Given the description of an element on the screen output the (x, y) to click on. 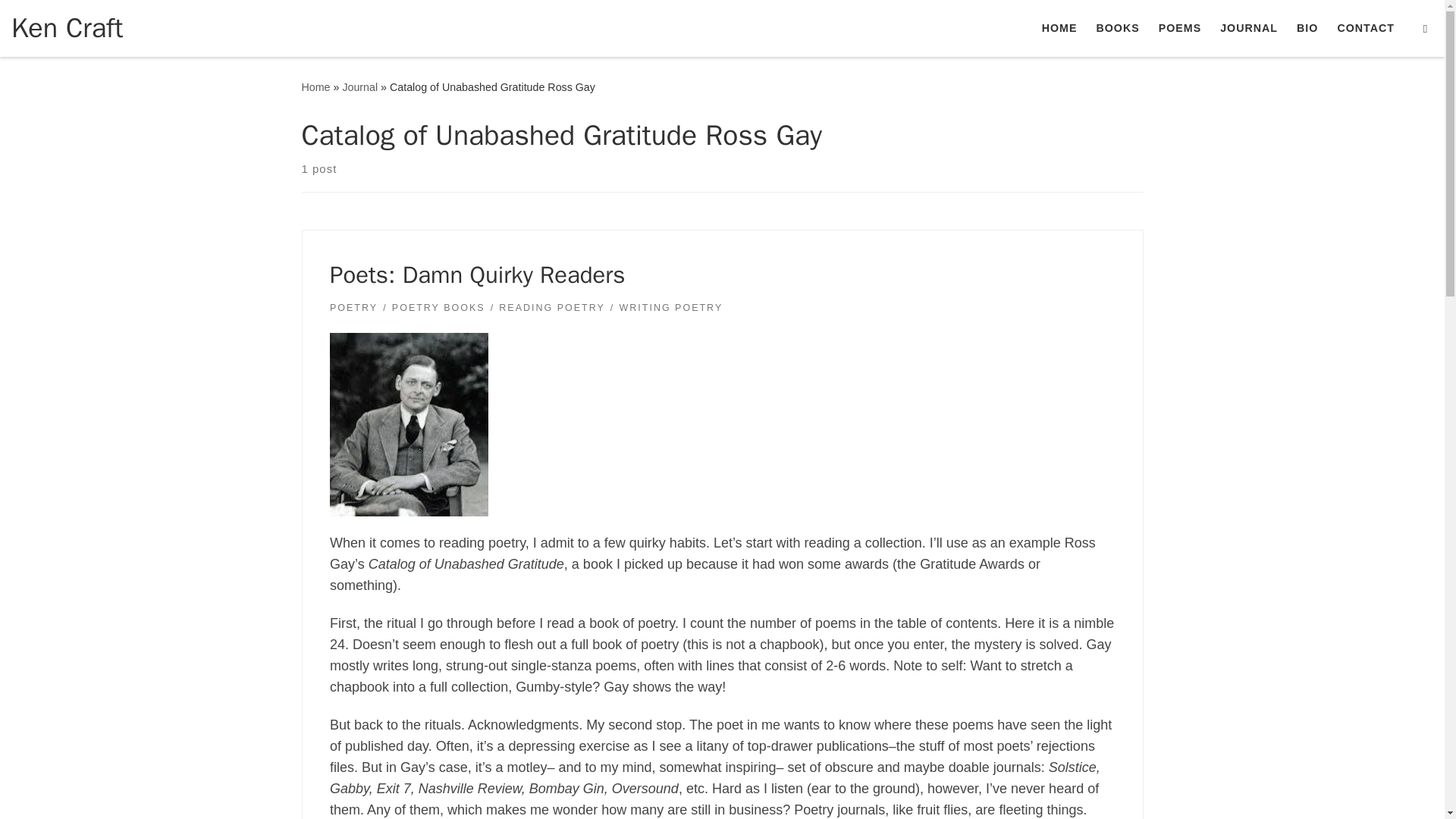
POEMS (1179, 28)
Skip to content (60, 20)
READING POETRY (551, 308)
View all posts in reading poetry (551, 308)
CONTACT (1365, 28)
Home (315, 87)
HOME (1058, 28)
WRITING POETRY (671, 308)
View all posts in writing poetry (671, 308)
Journal (359, 87)
